Given the description of an element on the screen output the (x, y) to click on. 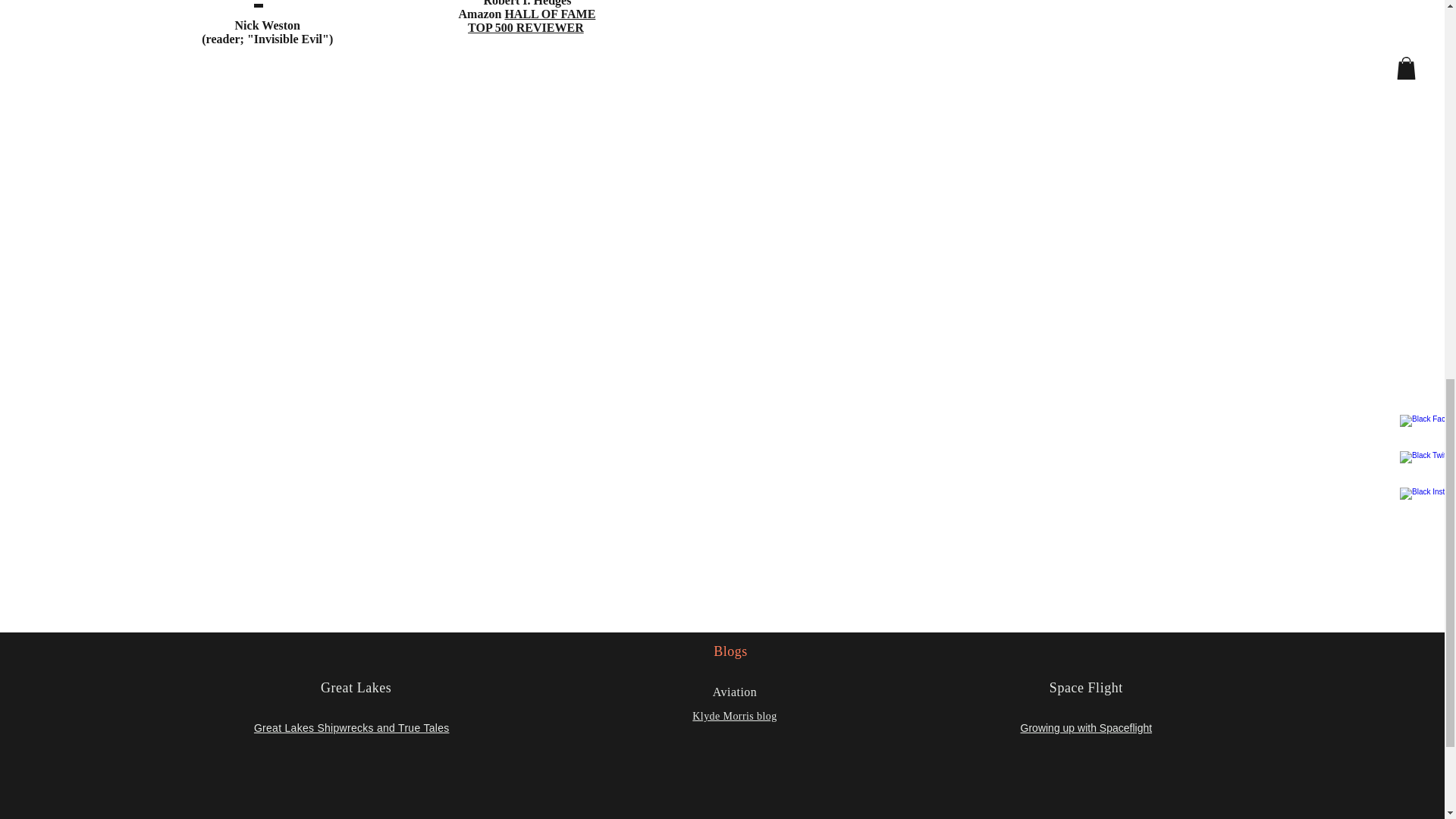
HALL OF FAME (549, 13)
Great Lakes Shipwrecks and True Tales (351, 727)
Klyde Morris blog (734, 715)
Growing up with Spaceflight (1086, 727)
TOP 500 REVIEWER (525, 27)
